Given the description of an element on the screen output the (x, y) to click on. 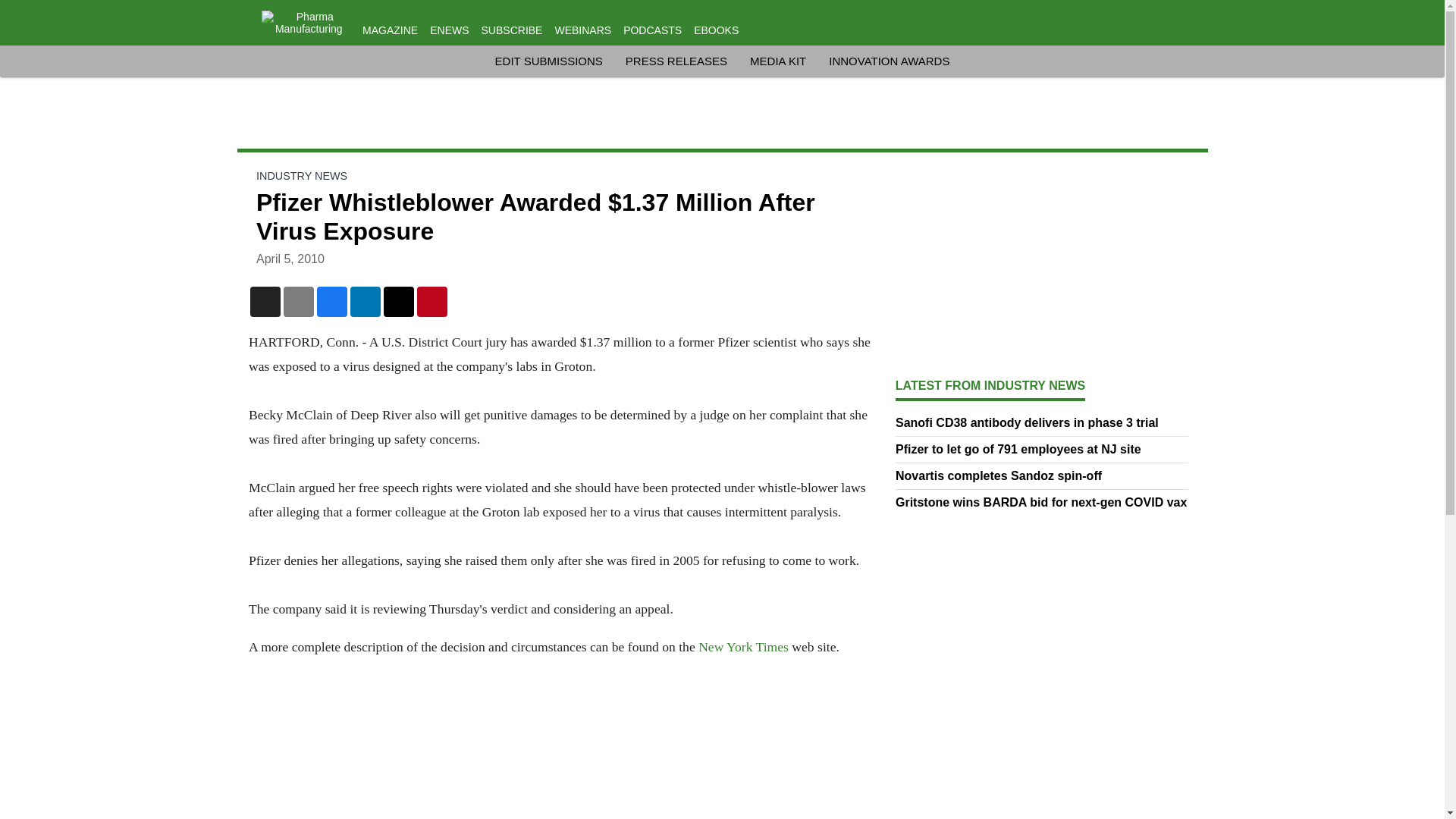
INNOVATION AWARDS (888, 60)
MEDIA KIT (777, 60)
Novartis completes Sandoz spin-off (1042, 476)
EDIT SUBMISSIONS (548, 60)
PRESS RELEASES (676, 60)
SUBSCRIBE (512, 30)
INDUSTRY NEWS (301, 175)
MAGAZINE (389, 30)
Sanofi CD38 antibody delivers in phase 3 trial (1042, 422)
Gritstone wins BARDA bid for next-gen COVID vax (1042, 502)
New York Times (743, 645)
Pfizer to let go of 791 employees at NJ site (1042, 449)
ENEWS (448, 30)
PODCASTS (652, 30)
Pfizer Whistleblower article (743, 645)
